Given the description of an element on the screen output the (x, y) to click on. 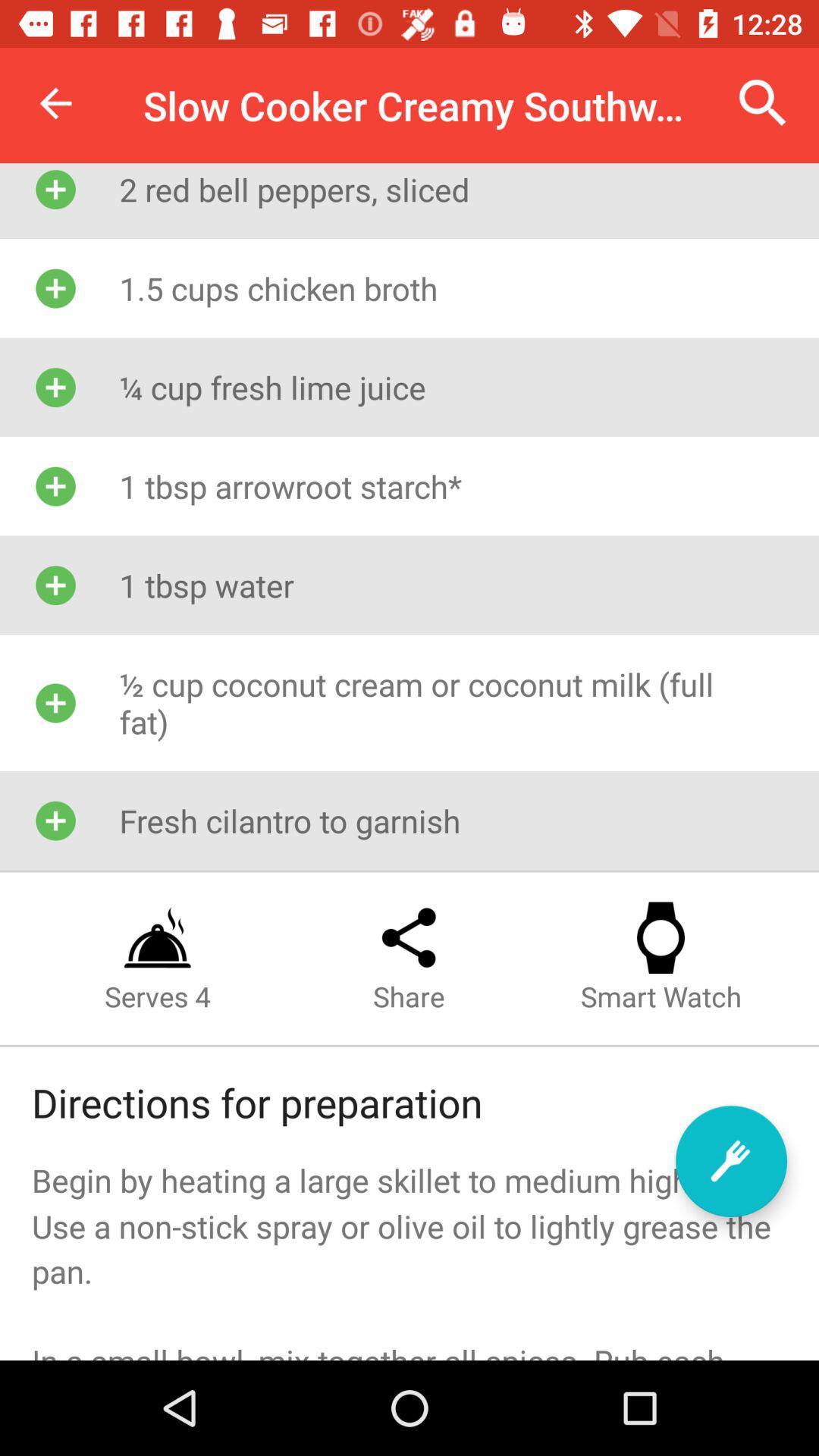
press the item above the 2 red bell icon (763, 103)
